Given the description of an element on the screen output the (x, y) to click on. 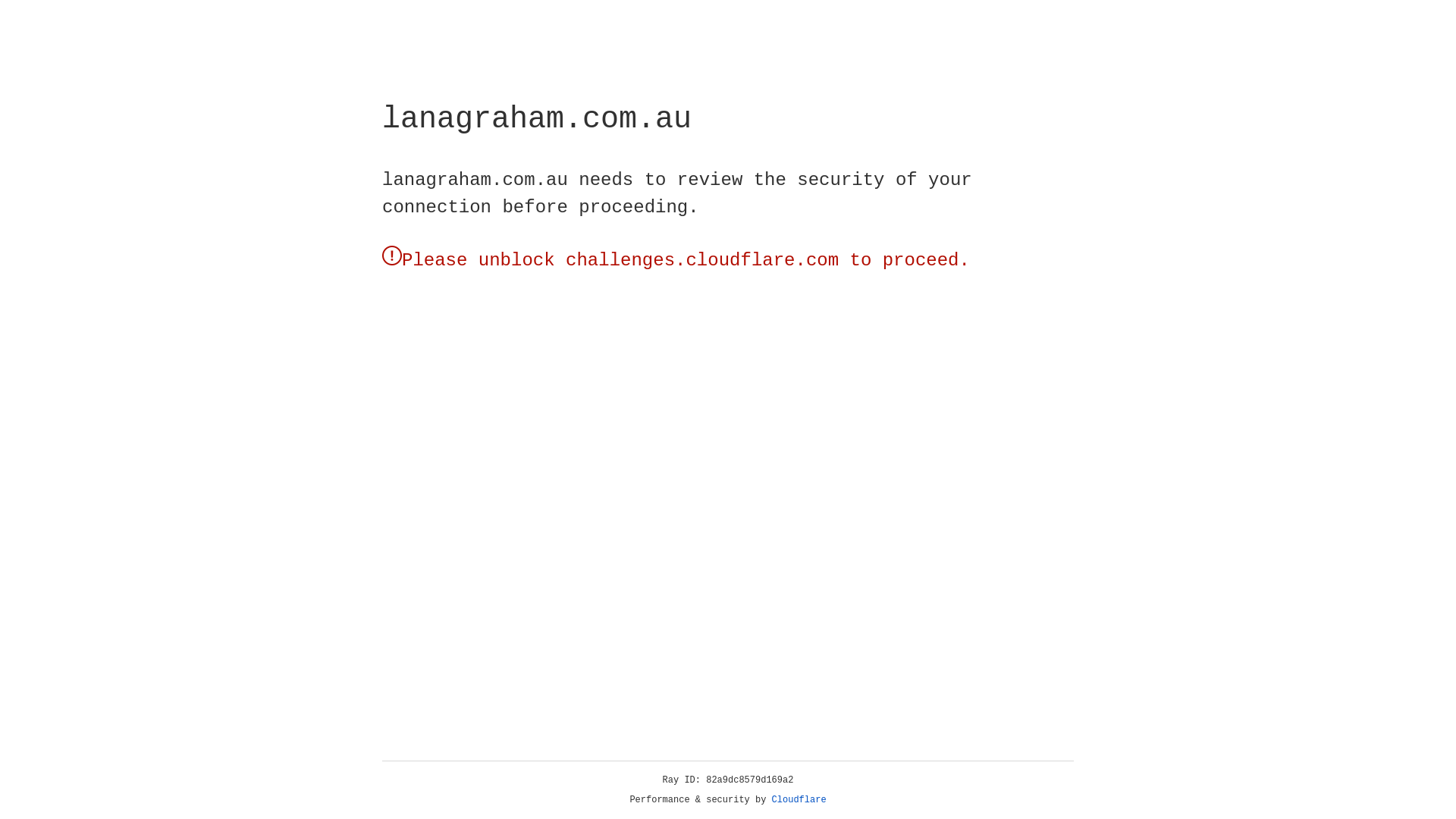
Cloudflare Element type: text (798, 799)
